Given the description of an element on the screen output the (x, y) to click on. 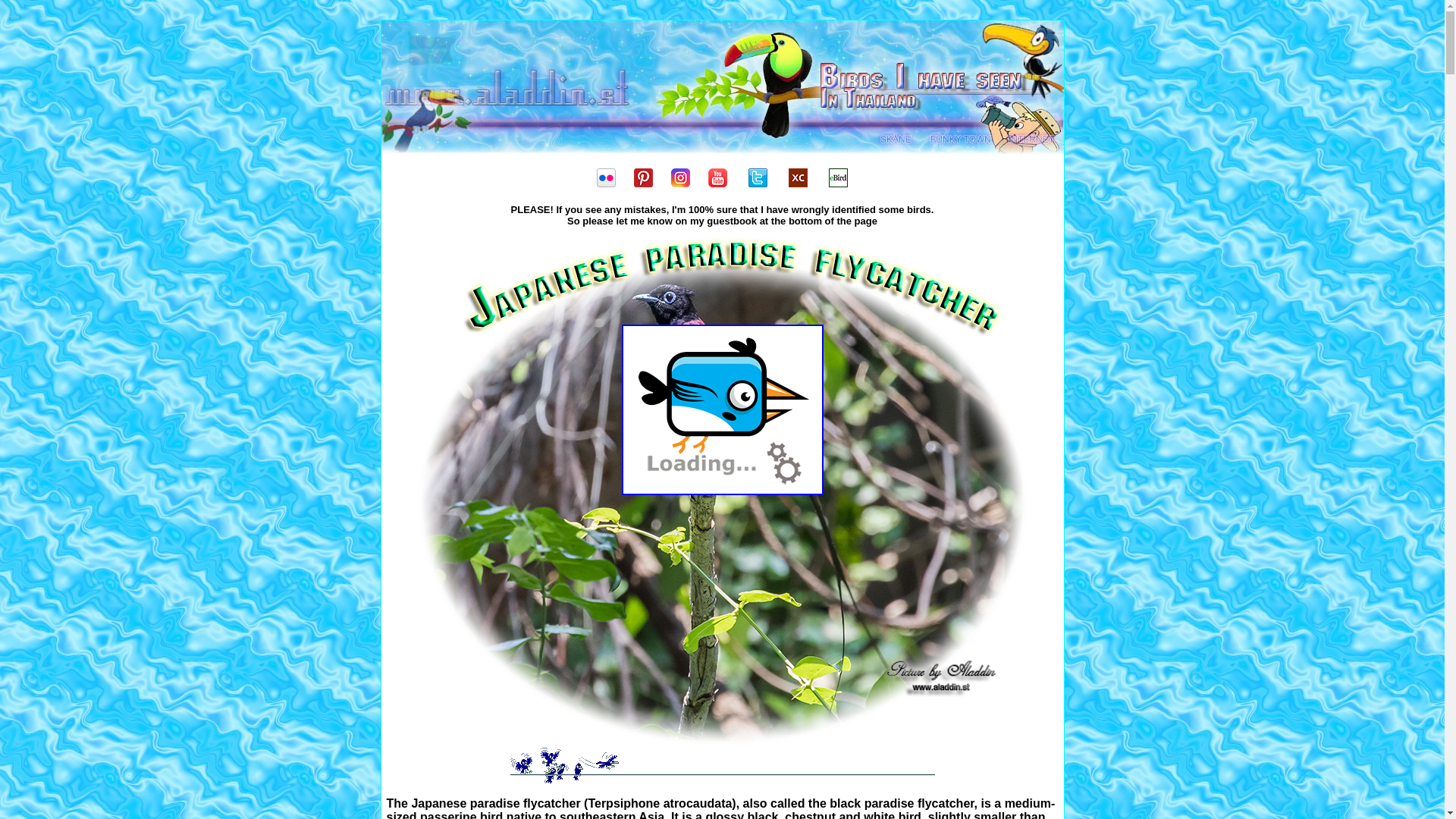
See my photos on Twitter! (757, 182)
My bird sound recordings on Xeno-Canto (798, 182)
See my videos on You Tube! (716, 182)
See my photos on Flickr! (605, 182)
My checklists on ebird (837, 182)
See my photos on Instagram! (680, 182)
See my photos on Pinterest! (642, 182)
